Given the description of an element on the screen output the (x, y) to click on. 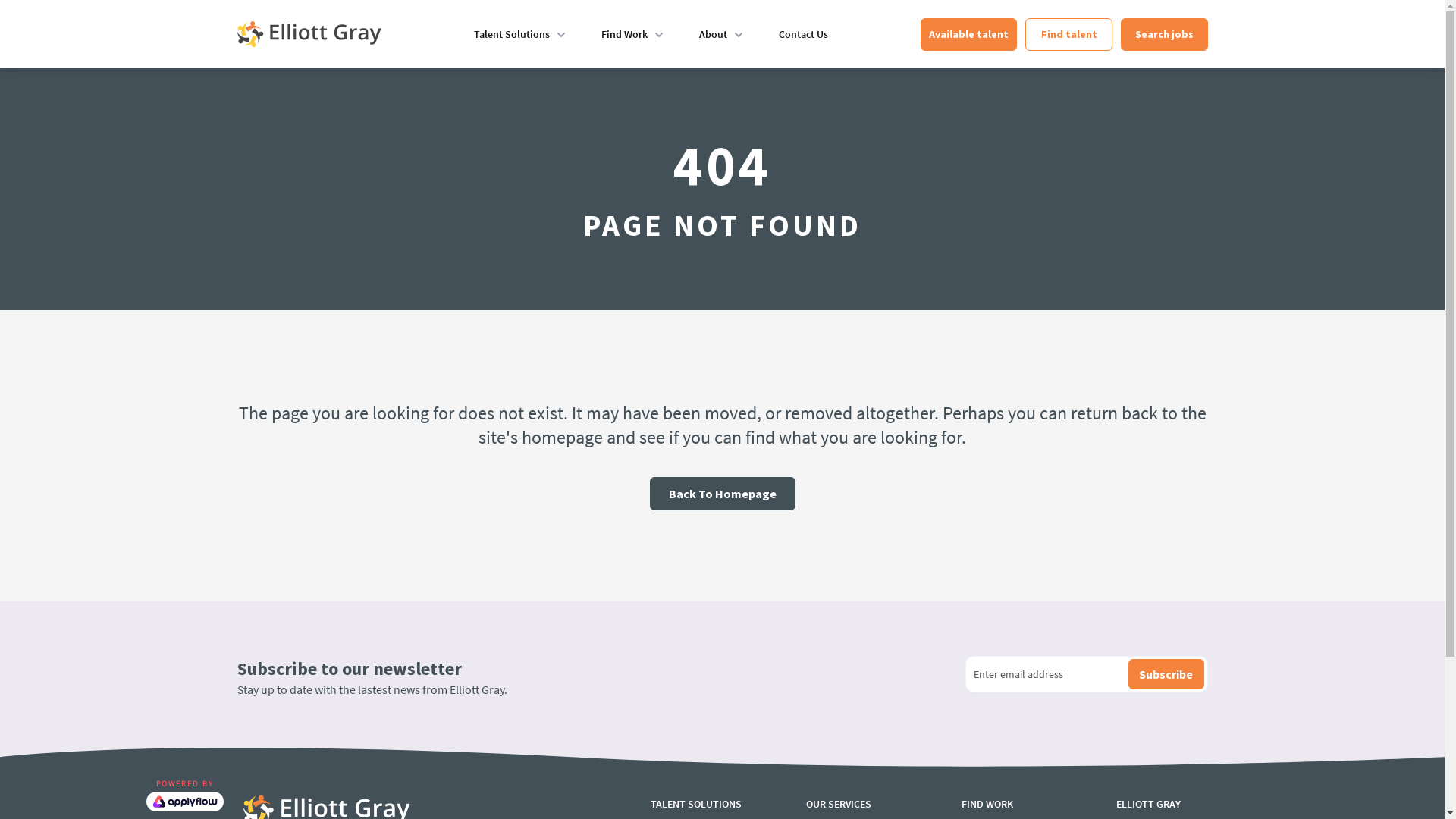
About Element type: text (713, 34)
Back To Homepage Element type: text (721, 493)
Talent Solutions Element type: text (511, 34)
Subscribe Element type: text (1166, 673)
POWERED BY Element type: text (183, 795)
Contact Us Element type: text (802, 34)
Find talent Element type: text (1068, 34)
Available talent Element type: text (968, 34)
Find Work Element type: text (623, 34)
Search jobs Element type: text (1164, 34)
